Given the description of an element on the screen output the (x, y) to click on. 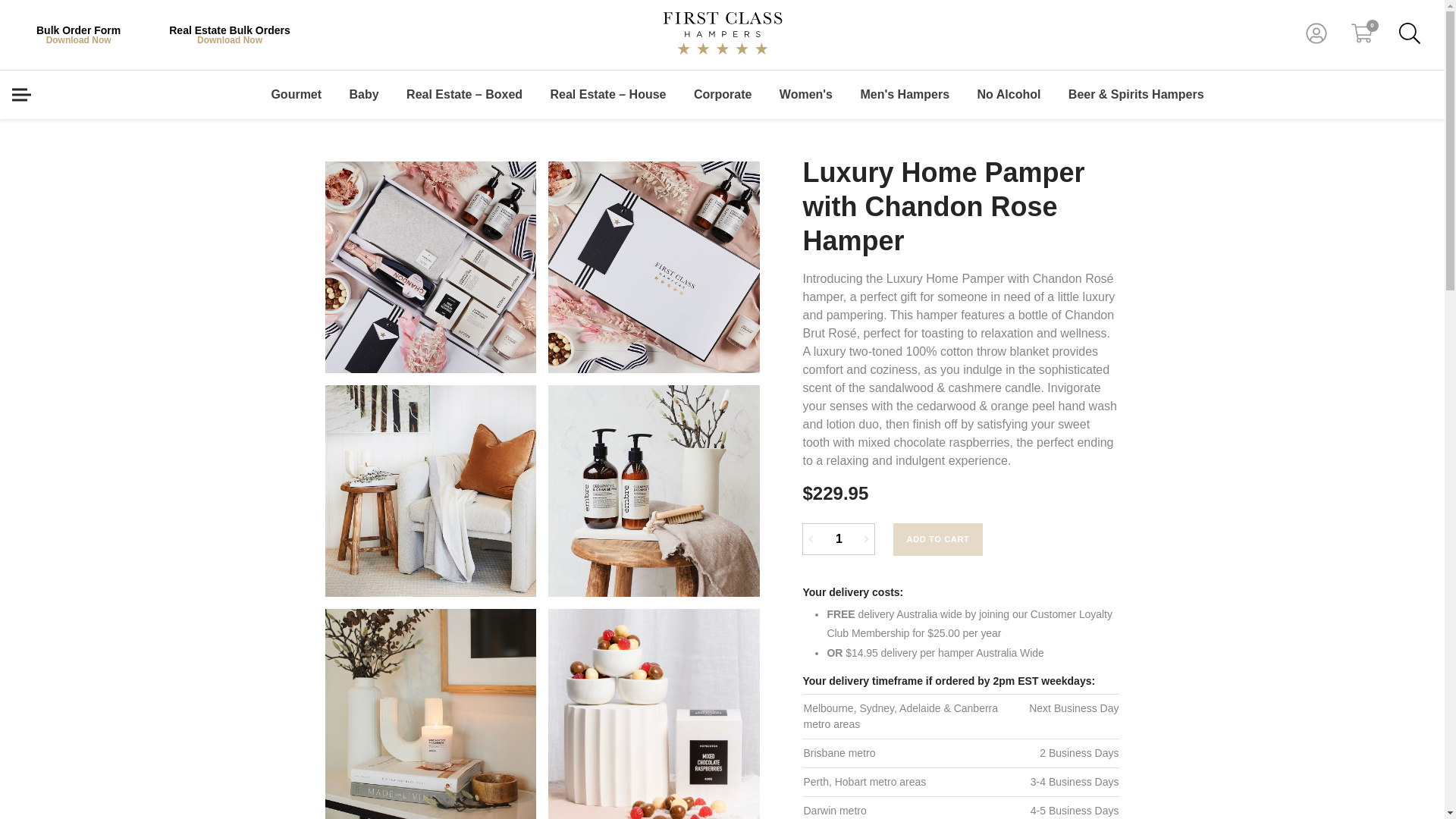
Women's (805, 94)
0 (1362, 33)
Gourmet (296, 94)
Women's (805, 94)
Gourmet (296, 94)
1 (838, 539)
Men's Hampers (903, 94)
Baby (364, 94)
Baby (364, 94)
Corporate (721, 94)
